Given the description of an element on the screen output the (x, y) to click on. 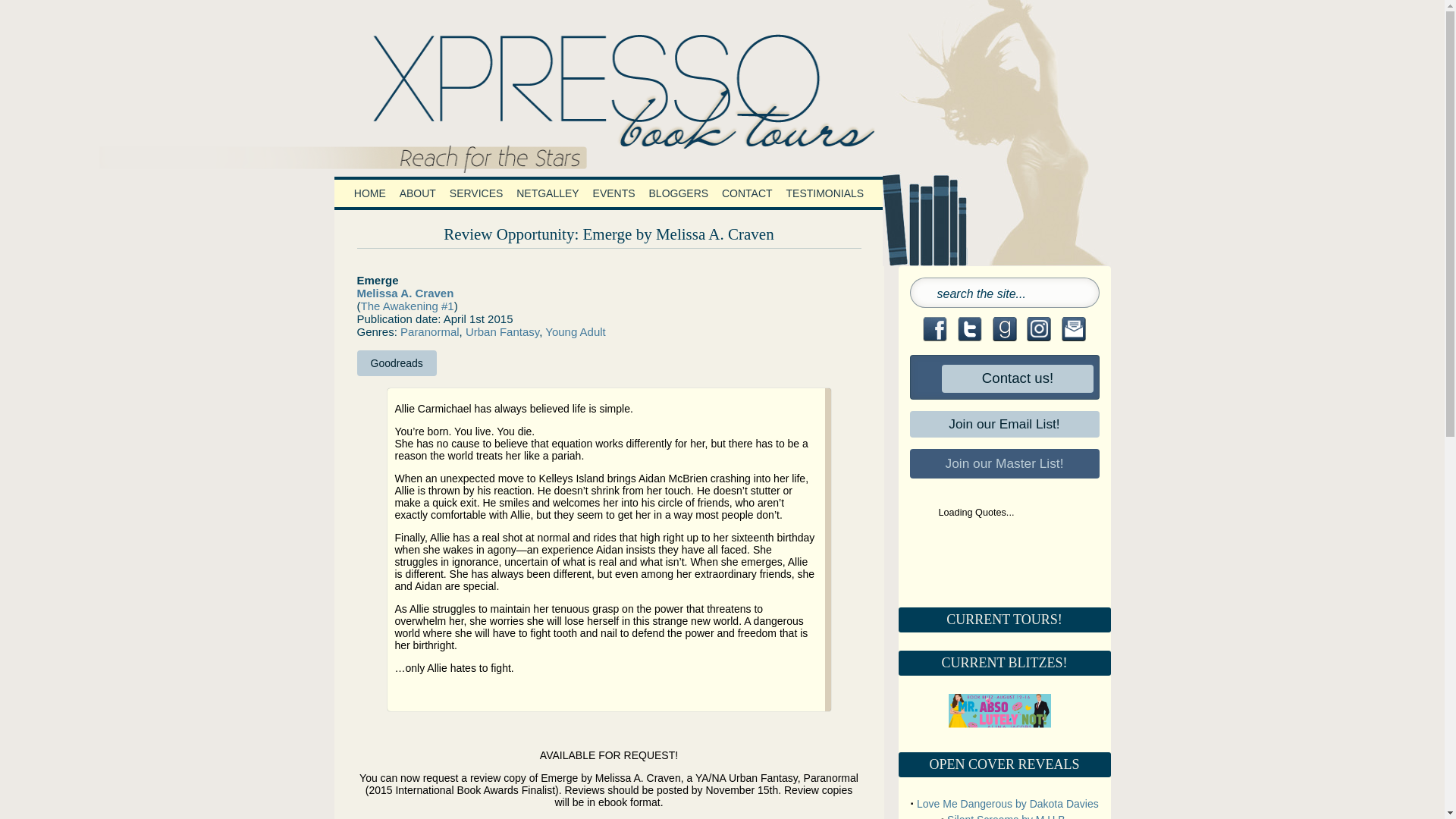
NETGALLEY (547, 193)
Join our Email List! (1004, 423)
EVENTS (614, 193)
Contact us! (1002, 378)
Join our Master List! (1004, 463)
Paranormal (430, 331)
Goodreads (395, 362)
TESTIMONIALS (824, 193)
ABOUT (417, 193)
Melissa A. Craven (404, 292)
